Given the description of an element on the screen output the (x, y) to click on. 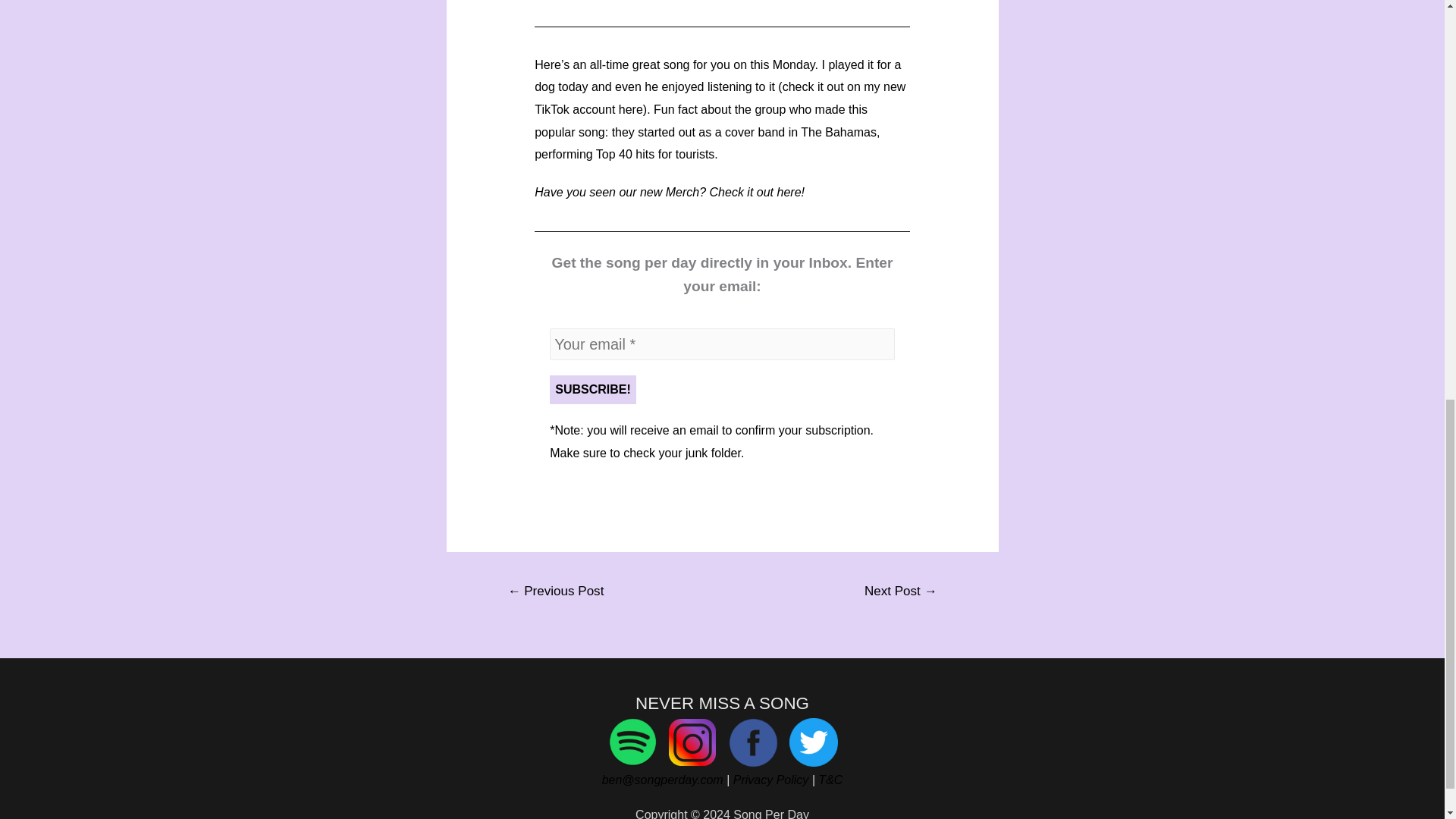
Your email (722, 344)
Subscribe! (593, 389)
here (630, 109)
Subscribe! (593, 389)
Privacy Policy (771, 779)
here (788, 192)
